Given the description of an element on the screen output the (x, y) to click on. 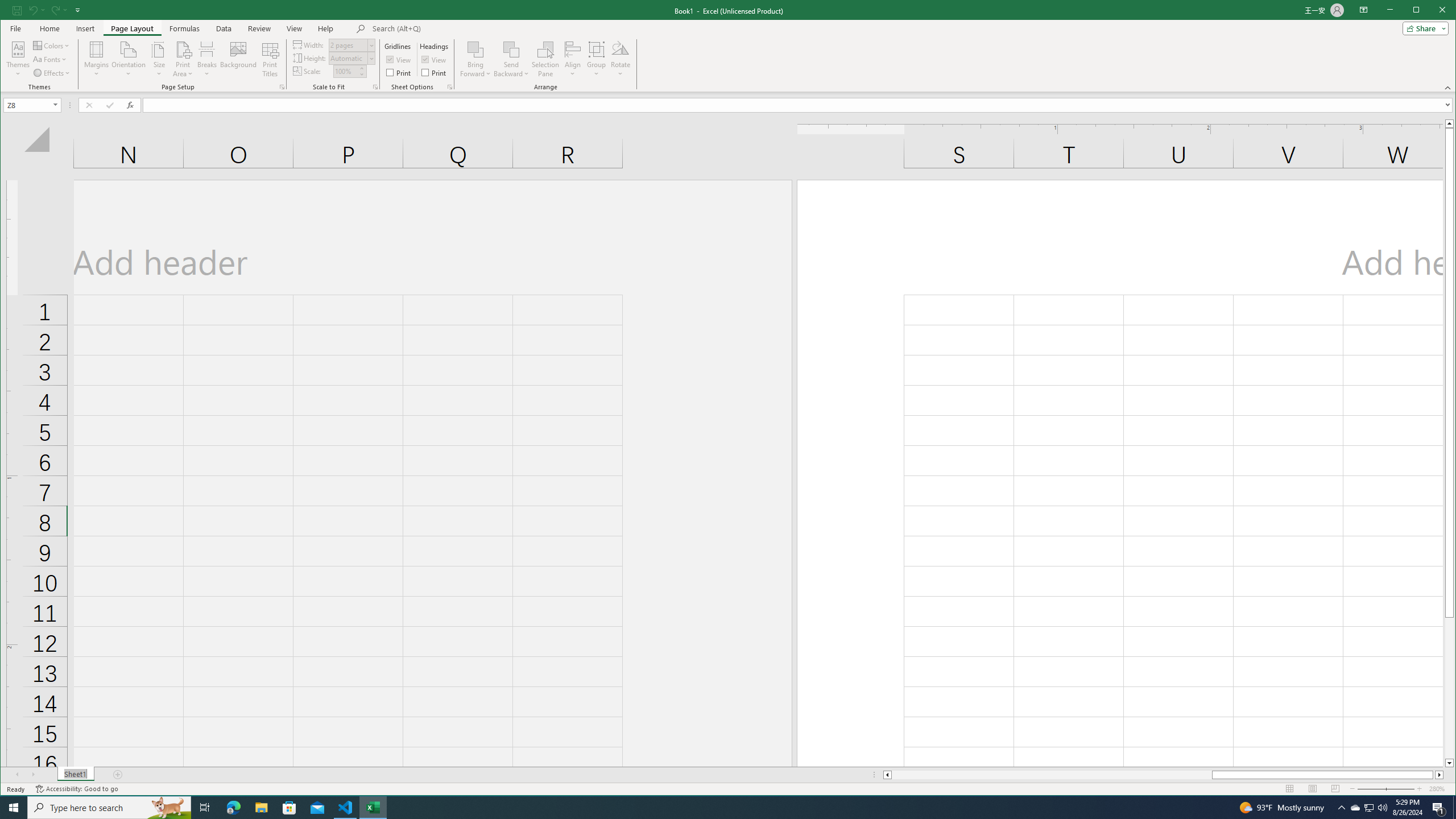
Sheet Options (449, 86)
